Given the description of an element on the screen output the (x, y) to click on. 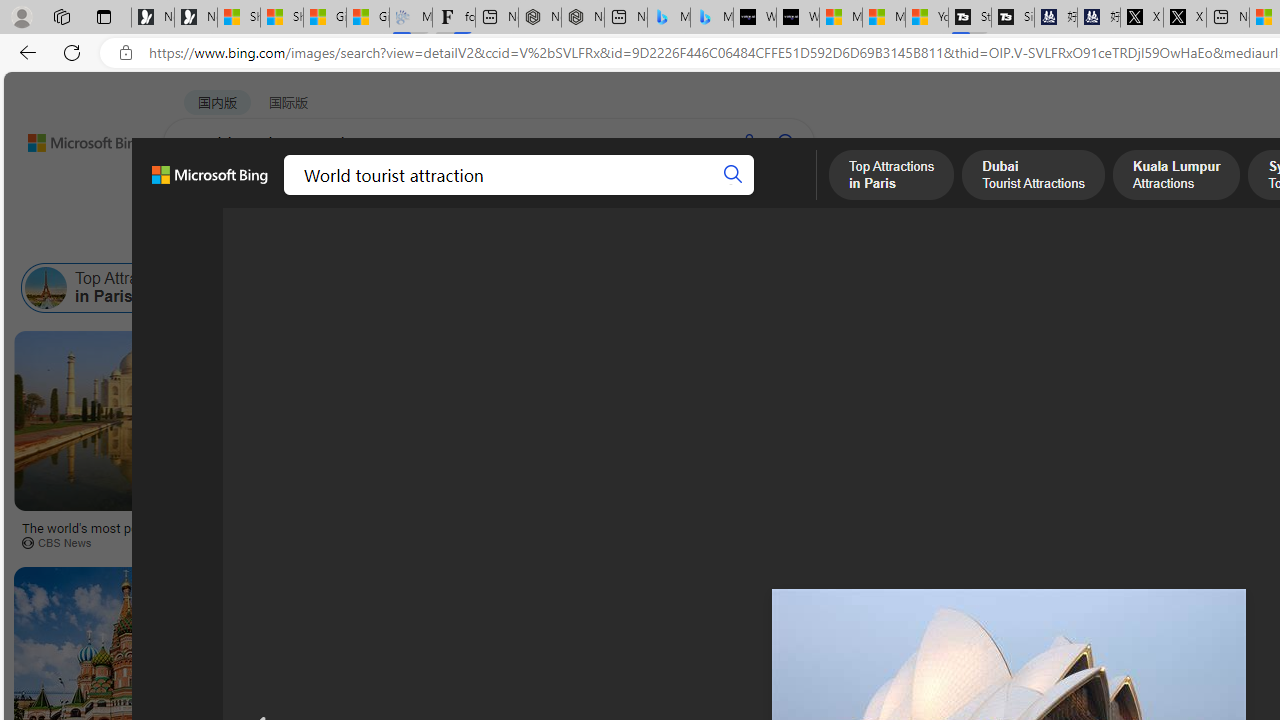
Image result for World tourist attraction (667, 611)
Date (591, 237)
IMAGES (274, 196)
Sydney Australia Tourist Attractions (633, 287)
Class: b_pri_nav_svg (336, 196)
Search using voice (748, 142)
Top Attractions in Paris (45, 287)
WEB (201, 195)
Kuala Lumpur Attractions (509, 287)
World Tourist (1198, 287)
CBS News (63, 541)
